Given the description of an element on the screen output the (x, y) to click on. 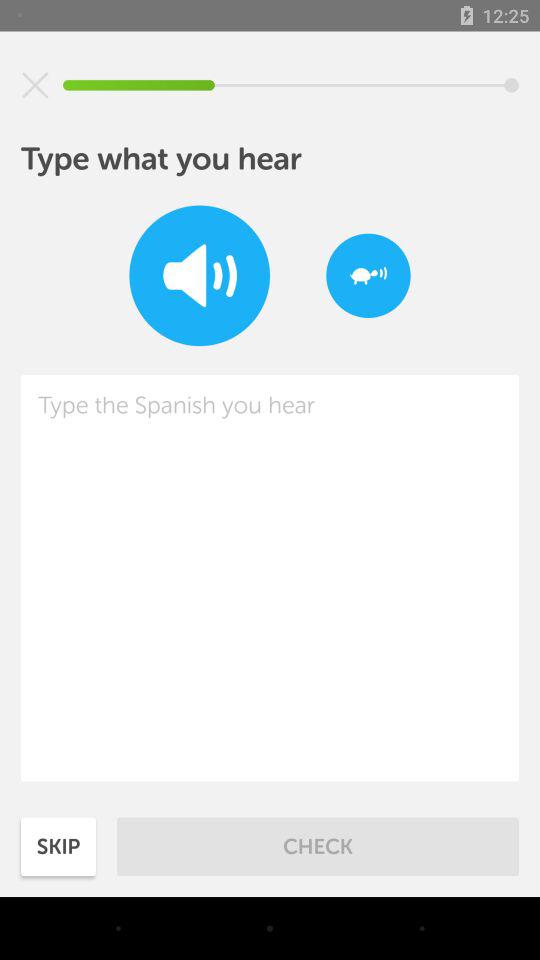
listen (199, 275)
